Given the description of an element on the screen output the (x, y) to click on. 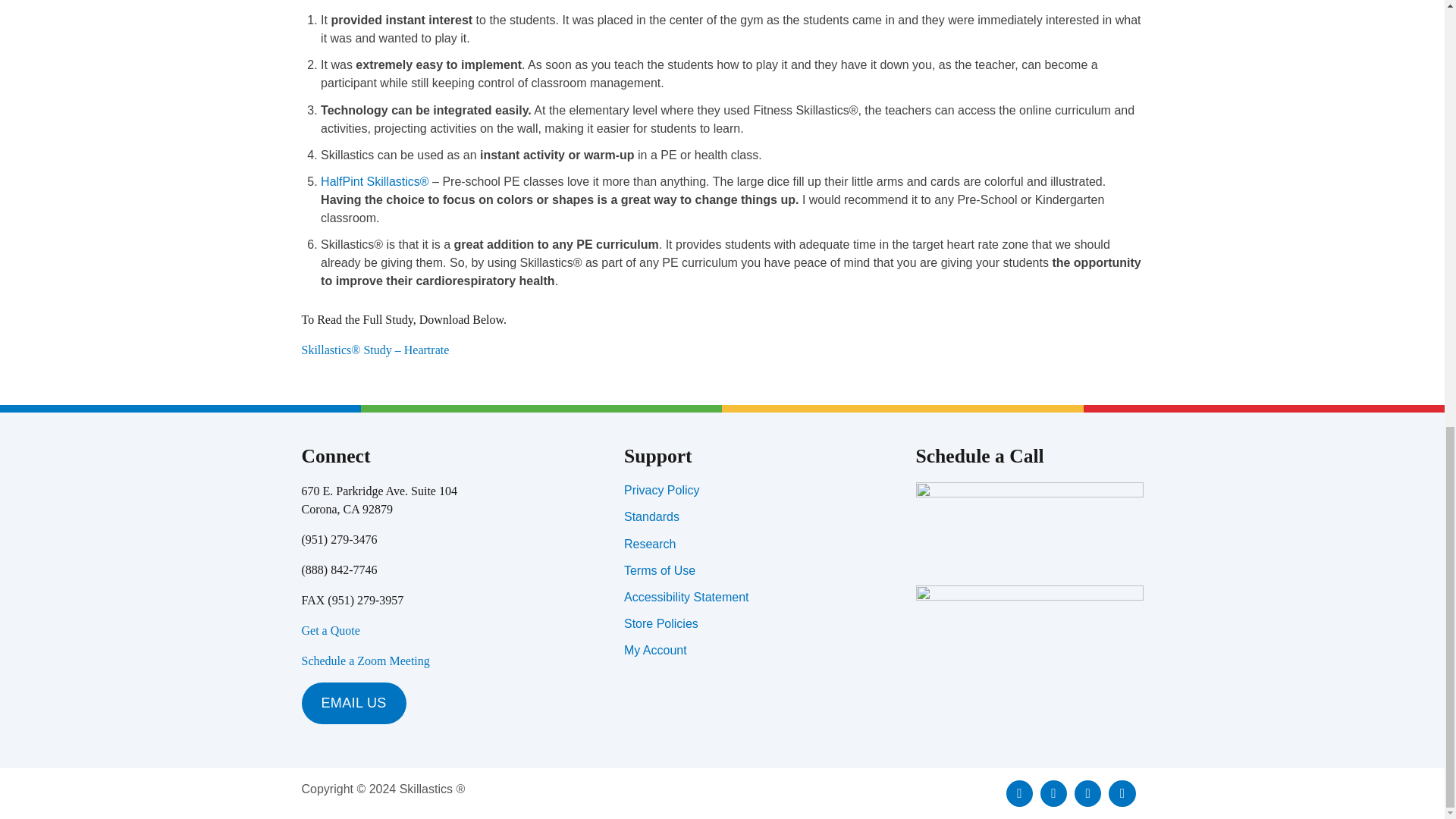
Privacy Policy (662, 490)
Terms of Use (659, 570)
EMAIL US (353, 702)
Accessibility Statement (686, 596)
Store Policies (661, 623)
My Account (655, 649)
Standards (651, 516)
Schedule a Zoom Meeting (365, 660)
Research (649, 543)
Get a Quote (330, 630)
